Given the description of an element on the screen output the (x, y) to click on. 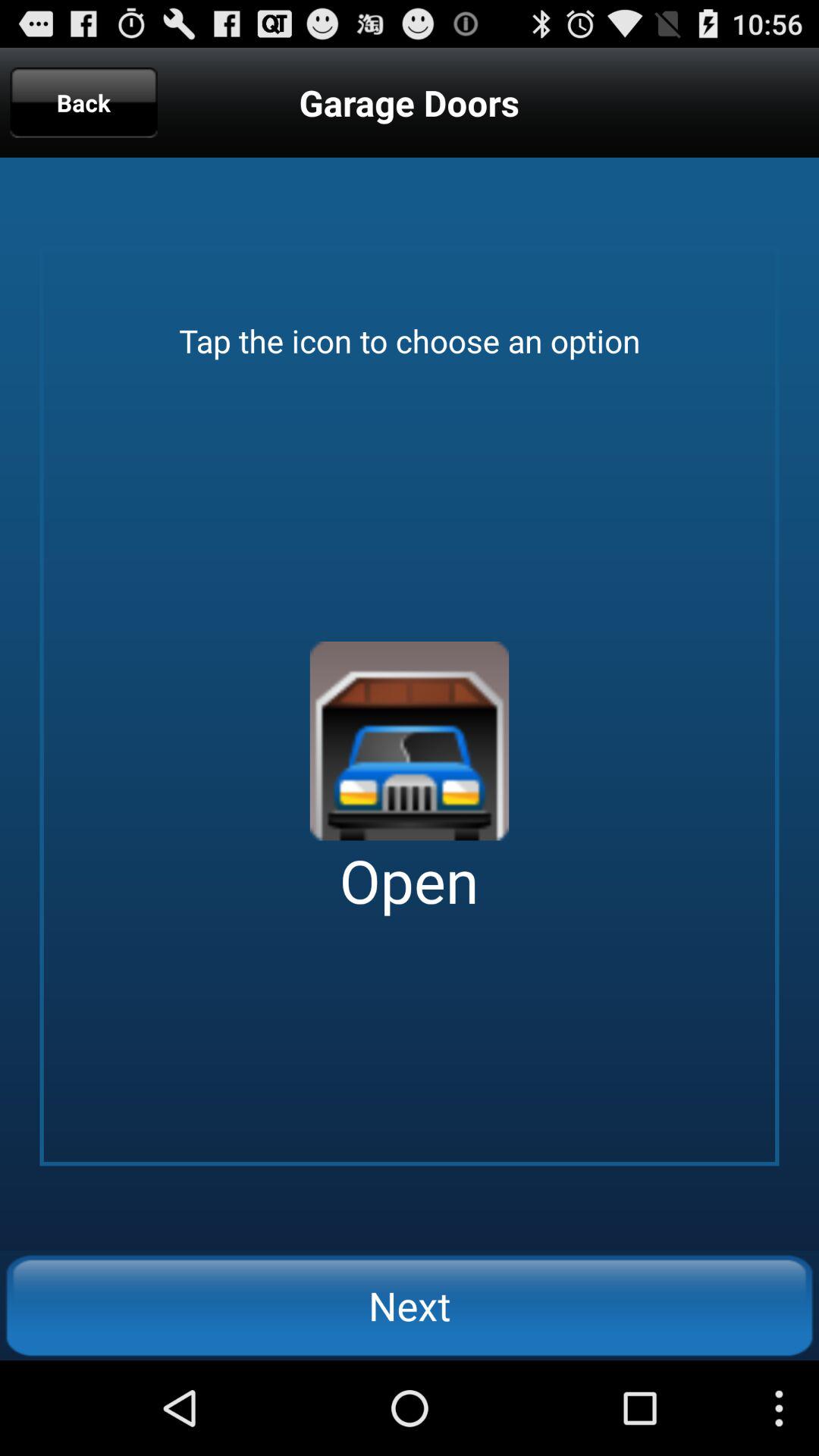
turn on the icon next to garage doors app (83, 102)
